Given the description of an element on the screen output the (x, y) to click on. 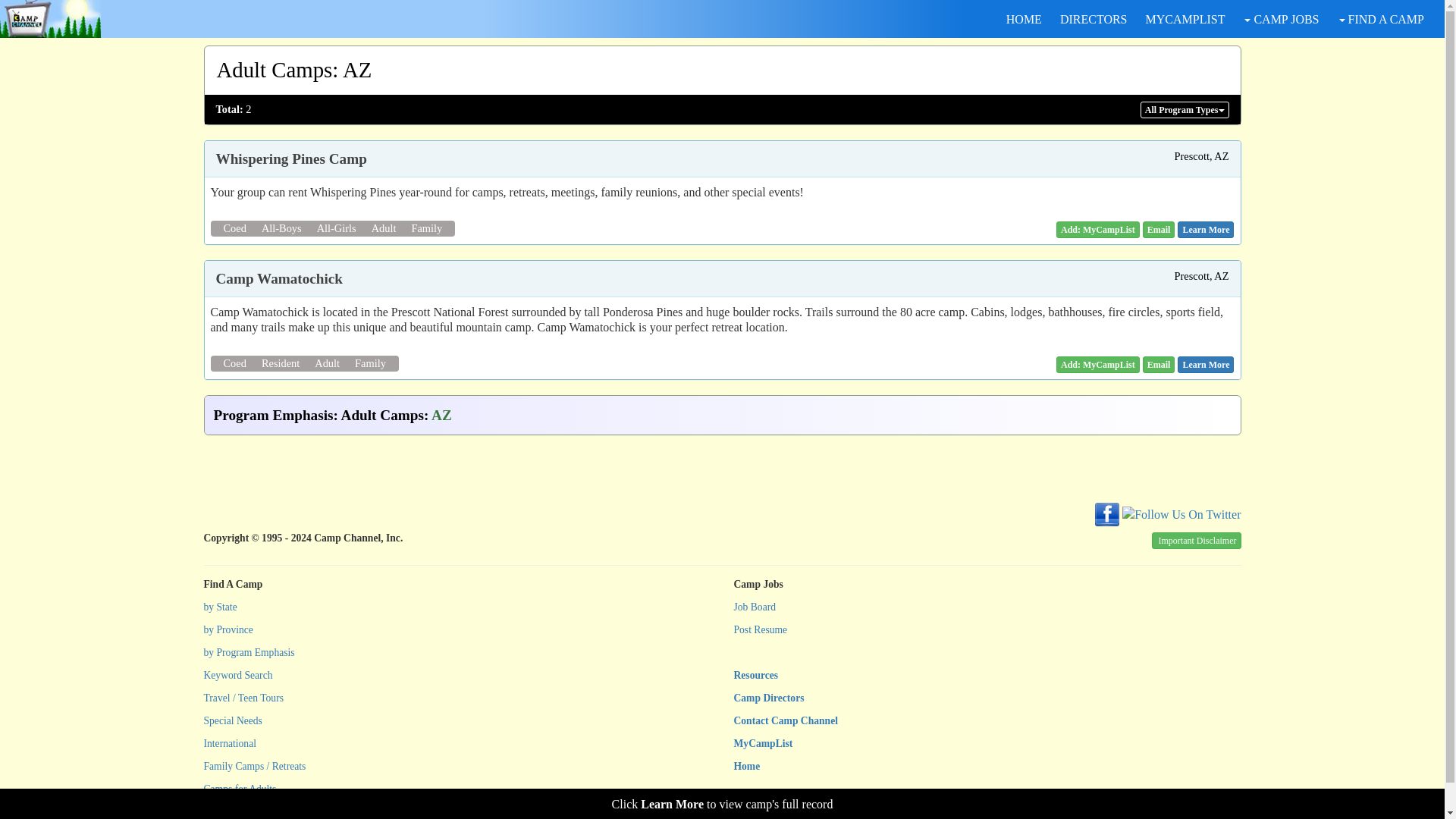
FIND A CAMP (1379, 19)
All Program Types (1184, 109)
CAMP JOBS (1280, 19)
Add: MyCampList (1098, 229)
AZ (356, 69)
MYCAMPLIST (1184, 19)
Add: MyCampList (1098, 364)
Adult Camps (274, 69)
HOME (1024, 19)
DIRECTORS (1094, 19)
